Given the description of an element on the screen output the (x, y) to click on. 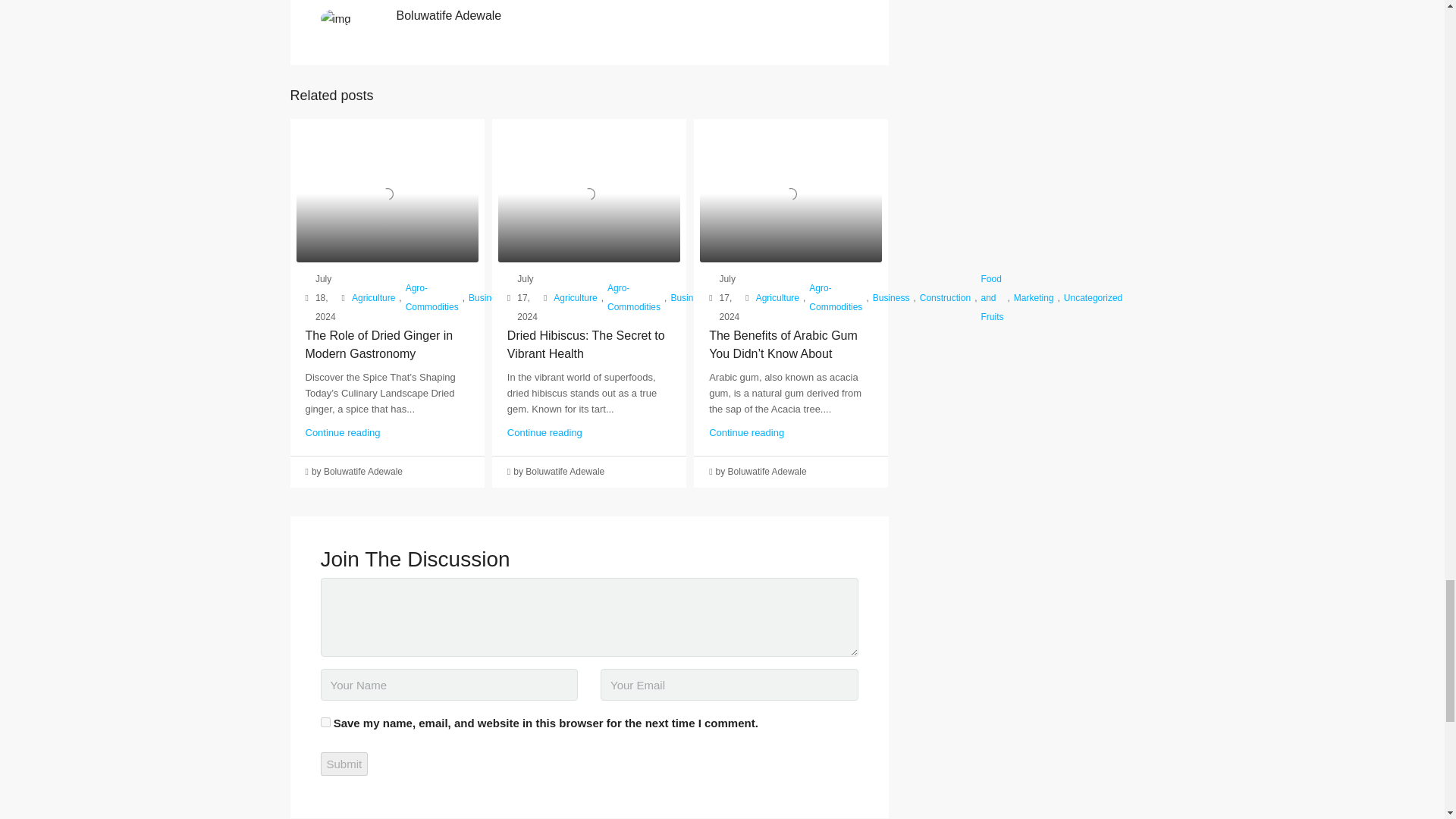
Uncategorized (627, 298)
Business (486, 298)
Agriculture (373, 298)
Marketing (568, 298)
yes (325, 722)
Submit (344, 763)
Agro-Commodities (432, 297)
Food and Fruits (526, 298)
